Given the description of an element on the screen output the (x, y) to click on. 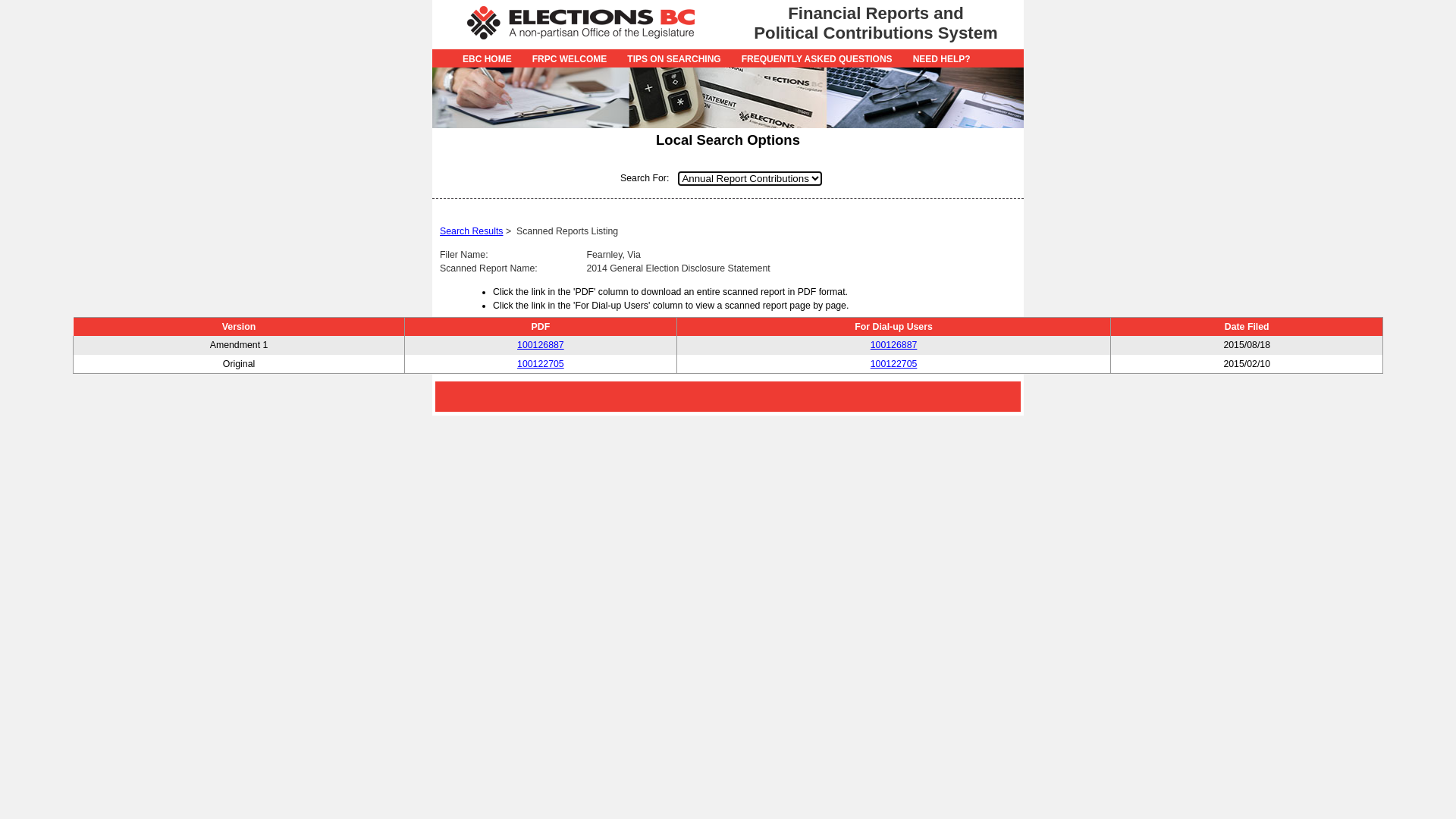
Search Results Element type: text (471, 230)
TIPS ON SEARCHING Element type: text (673, 58)
FREQUENTLY ASKED QUESTIONS Element type: text (816, 58)
100122705 Element type: text (540, 363)
EBC HOME Element type: text (486, 58)
Elections BC home page Element type: hover (579, 42)
100126887 Element type: text (540, 344)
100126887 Element type: text (893, 344)
FRPC WELCOME Element type: text (569, 58)
100122705 Element type: text (893, 363)
NEED HELP? Element type: text (941, 58)
